Given the description of an element on the screen output the (x, y) to click on. 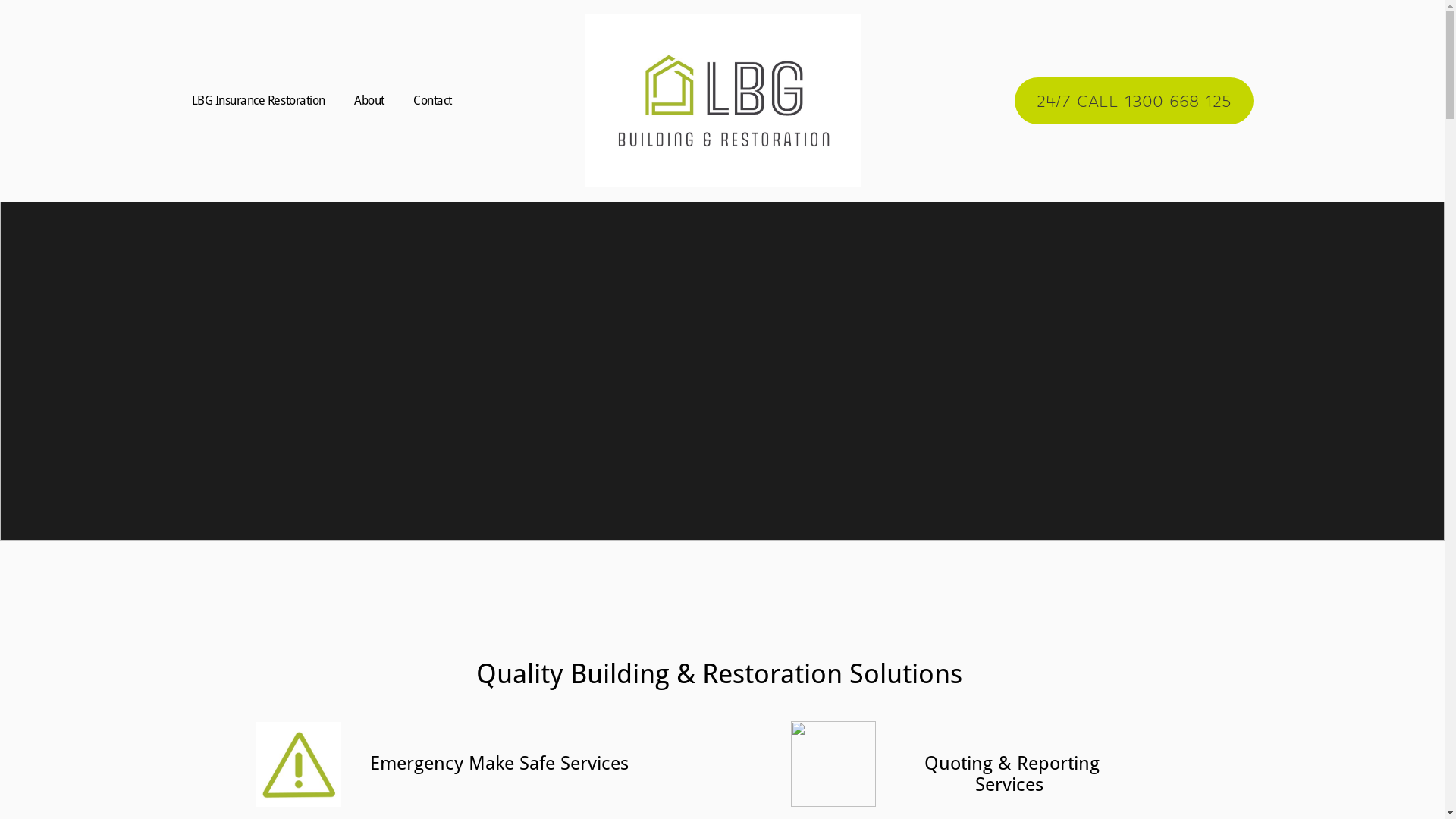
24/7 CALL 1300 668 125 Element type: text (1133, 100)
About Element type: text (369, 100)
LBG Insurance Restoration Element type: text (257, 100)
Contact Element type: text (432, 100)
